Given the description of an element on the screen output the (x, y) to click on. 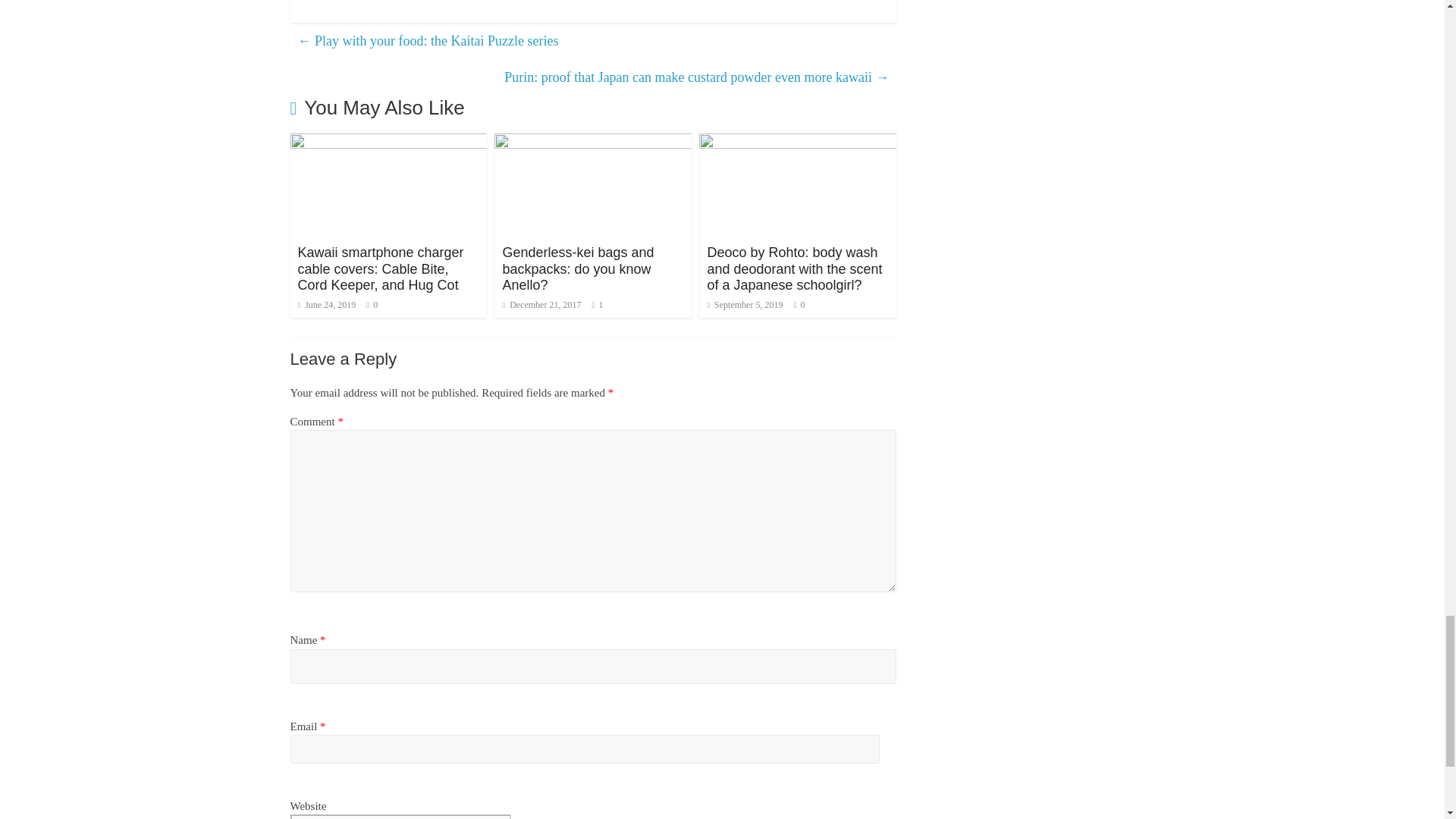
Genderless-kei bags and backpacks: do you know Anello? (593, 142)
00:00 (326, 304)
00:00 (541, 304)
Genderless-kei bags and backpacks: do you know Anello? (577, 268)
